Given the description of an element on the screen output the (x, y) to click on. 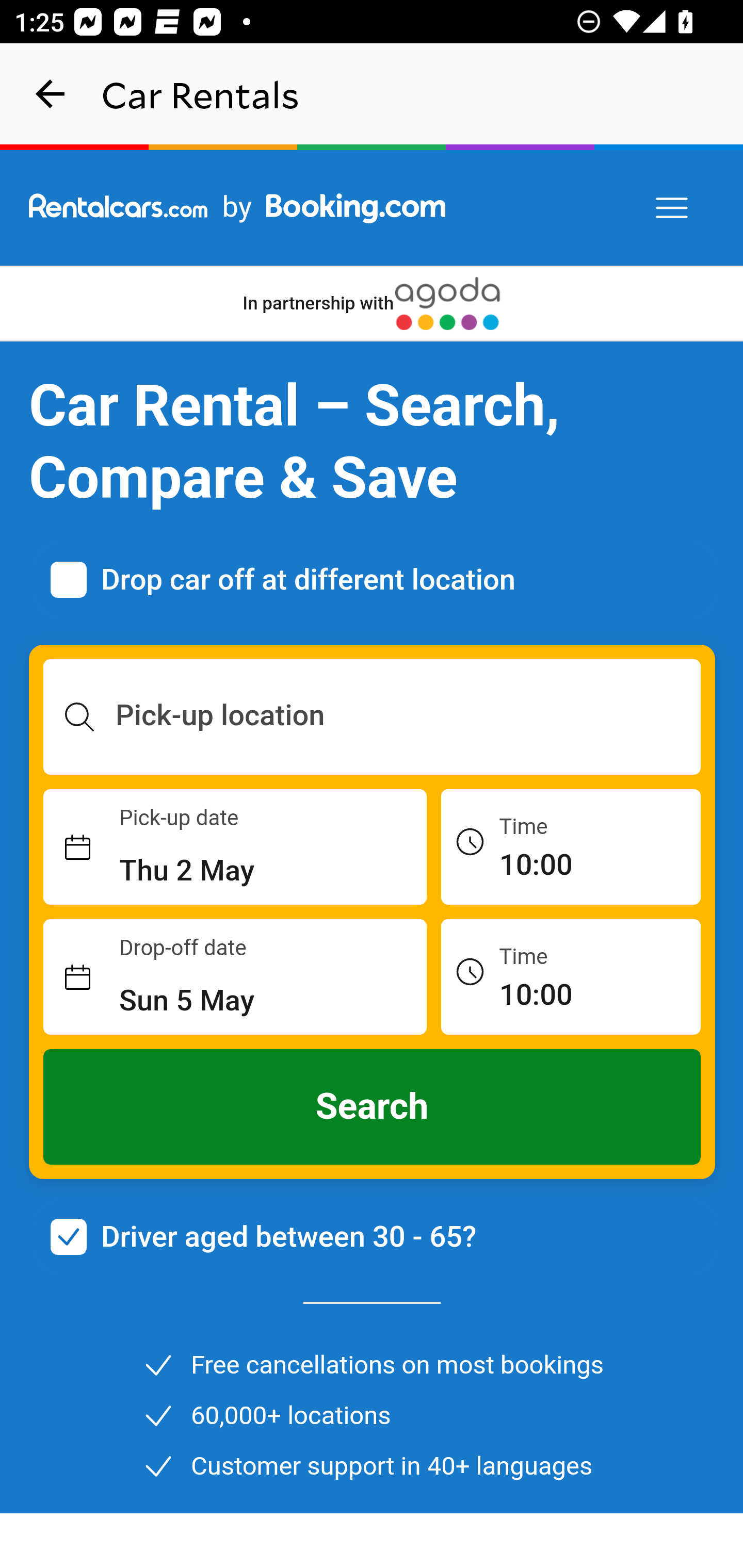
navigation_button (50, 93)
